Given the description of an element on the screen output the (x, y) to click on. 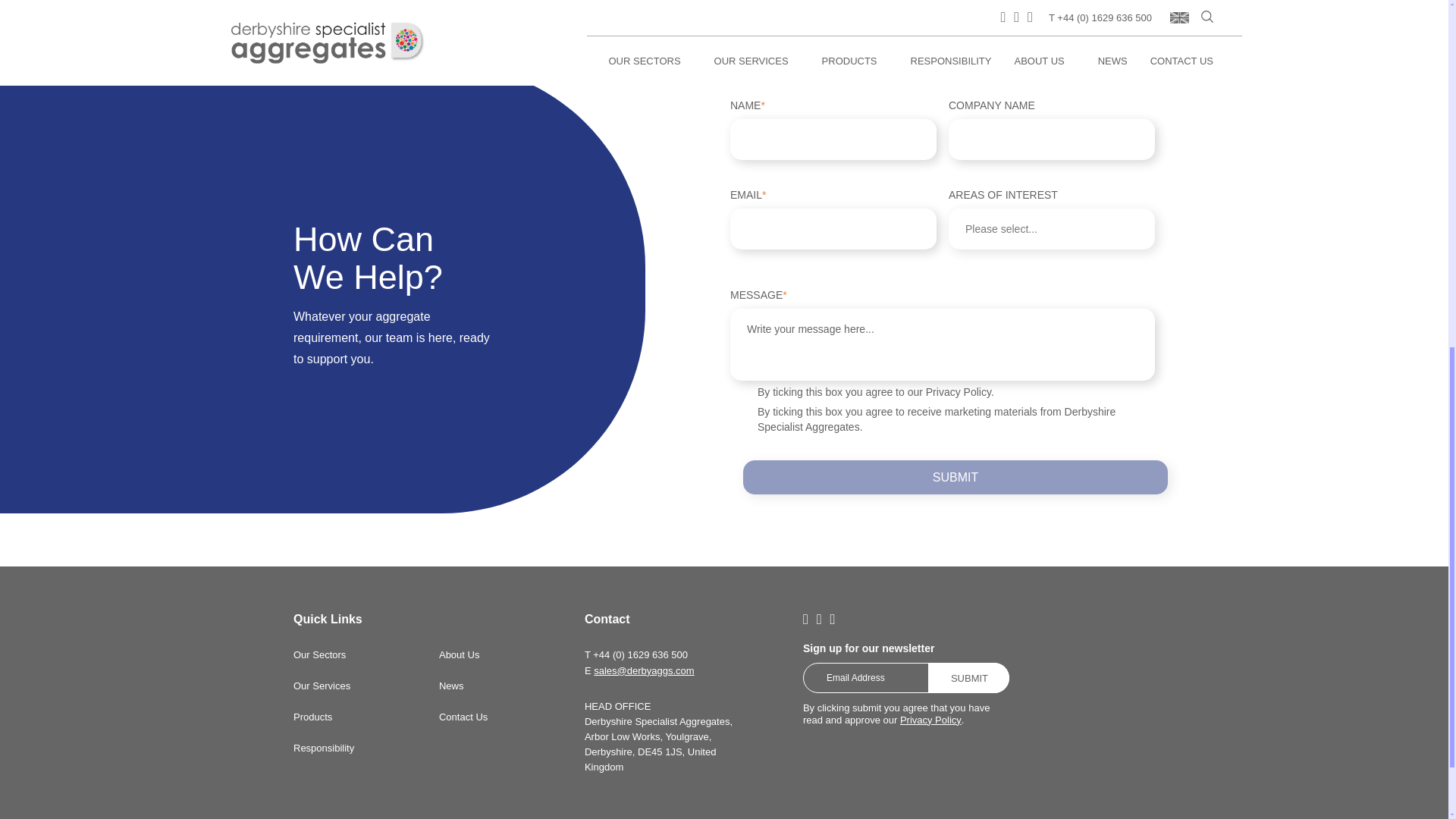
Submit (954, 477)
Submit (968, 677)
